Given the description of an element on the screen output the (x, y) to click on. 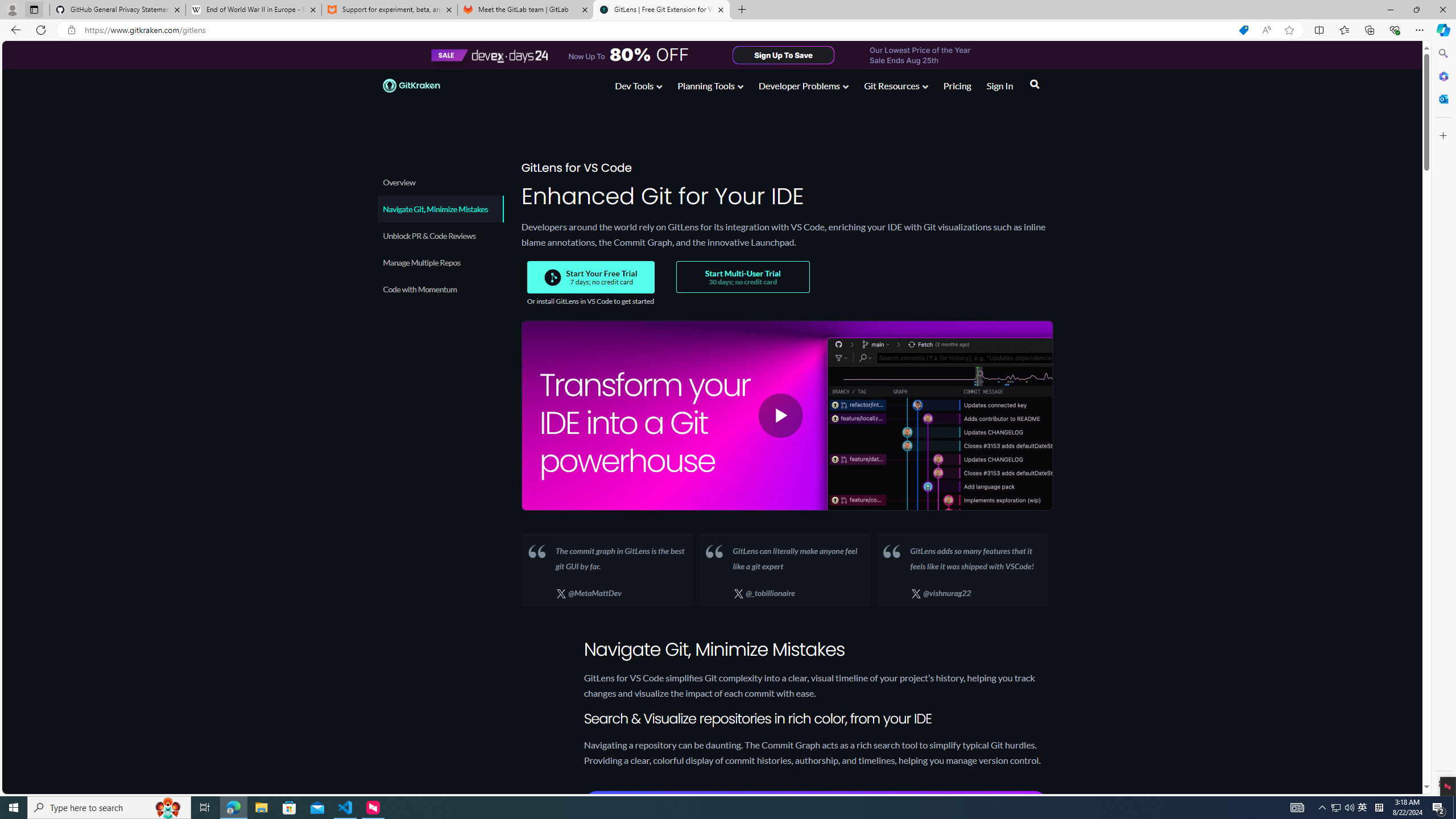
Overview (439, 182)
Navigate Git, Minimize Mistakes (440, 208)
Start Your Free Trial 7 days; no credit card (591, 277)
Pricing (957, 87)
GitHub General Privacy Statement - GitHub Docs (117, 9)
Code with Momentum (439, 288)
Manage Multiple Repos (440, 262)
Sign Up To Save (783, 54)
Start Multi-User Trial 30 days; no credit card (742, 277)
